Given the description of an element on the screen output the (x, y) to click on. 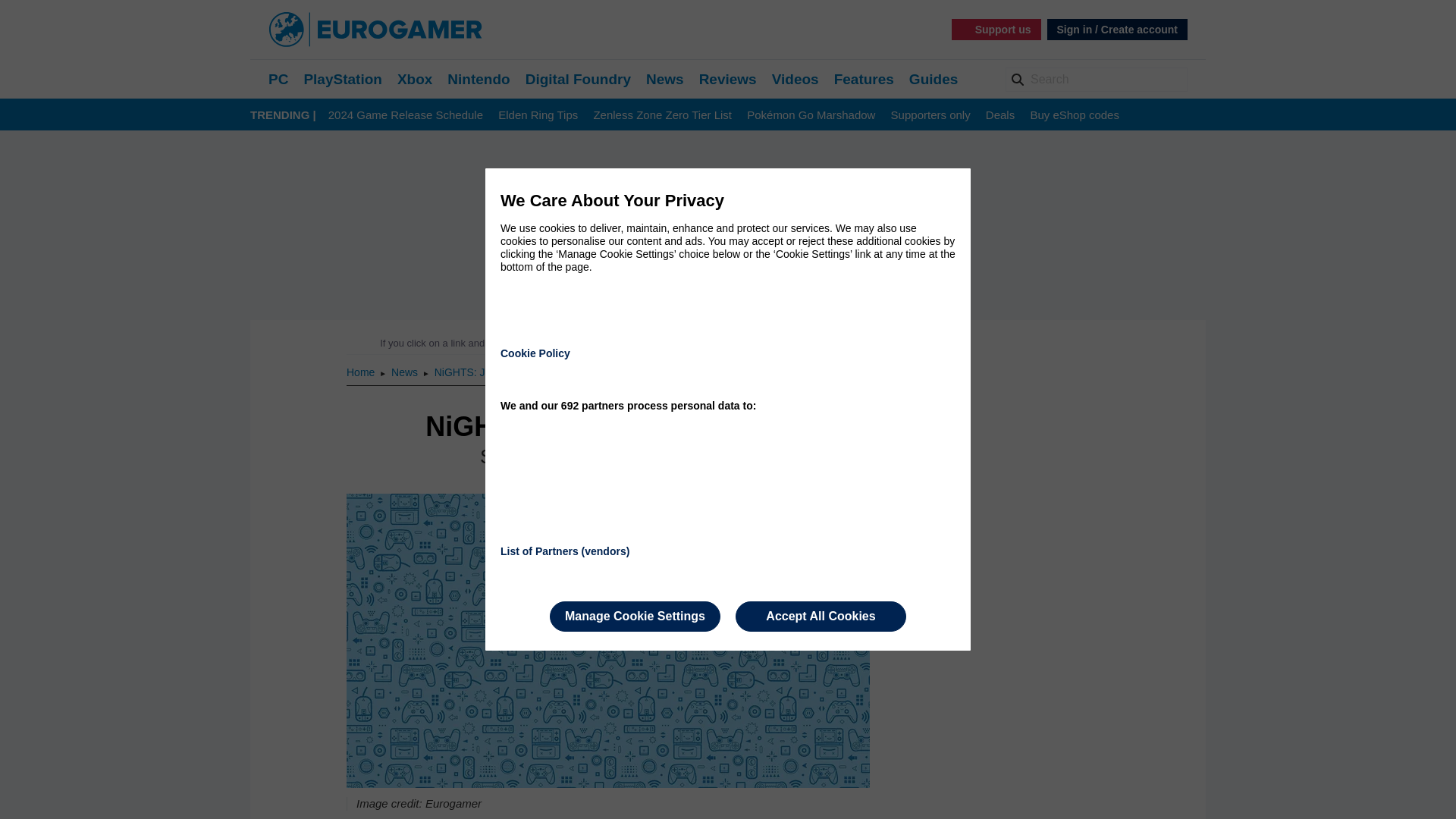
Elden Ring Tips (537, 114)
NiGHTS: Journey of Dreams (501, 372)
Nintendo (477, 78)
Xbox (414, 78)
Deals (999, 114)
2024 Game Release Schedule (406, 114)
News (665, 78)
PlayStation (341, 78)
PlayStation (341, 78)
Reviews (727, 78)
Features (863, 78)
Xbox (414, 78)
Home (361, 372)
Buy eShop codes (1074, 114)
Videos (794, 78)
